Given the description of an element on the screen output the (x, y) to click on. 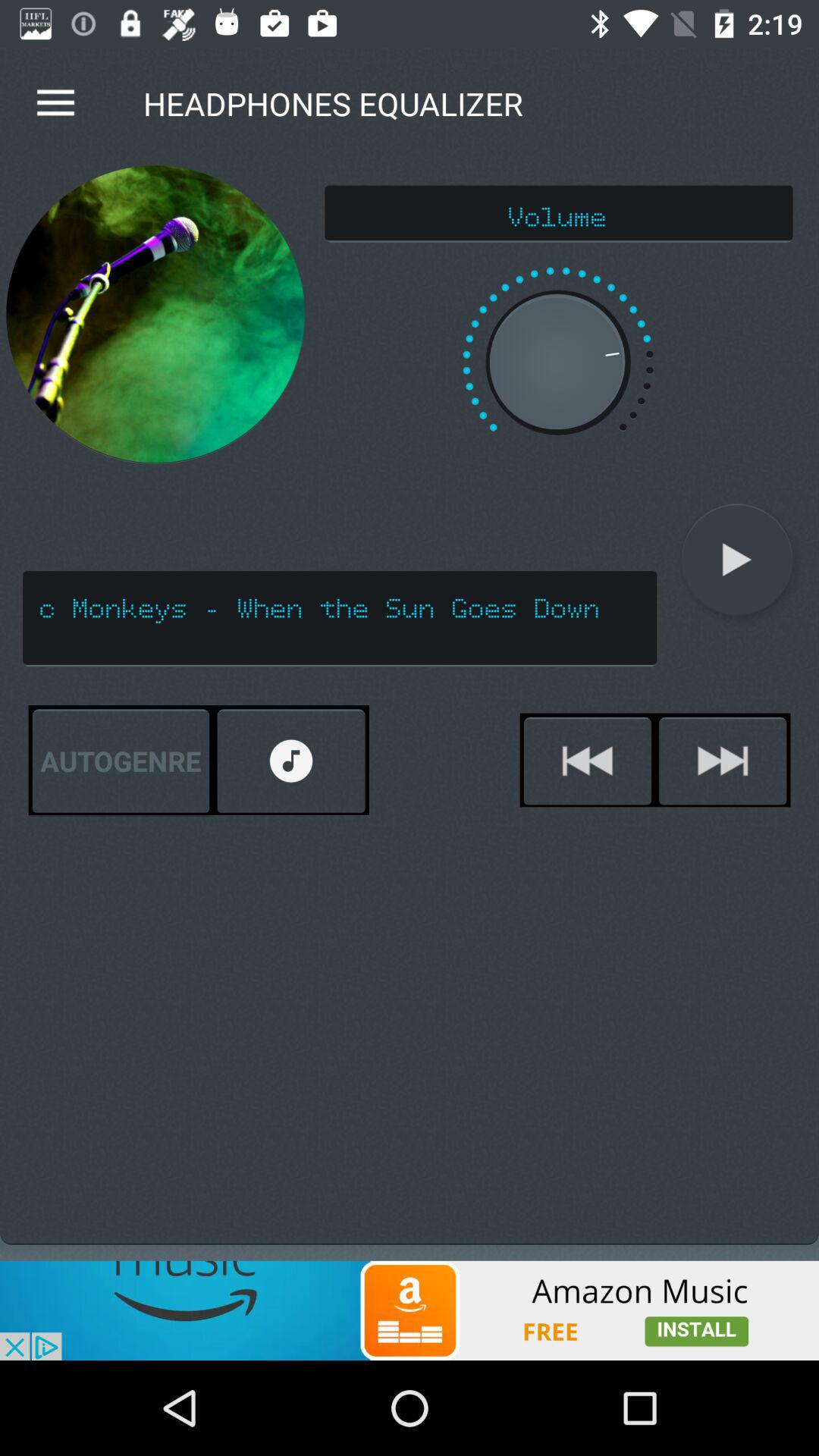
open the item above the arctic monkeys when icon (155, 314)
